Given the description of an element on the screen output the (x, y) to click on. 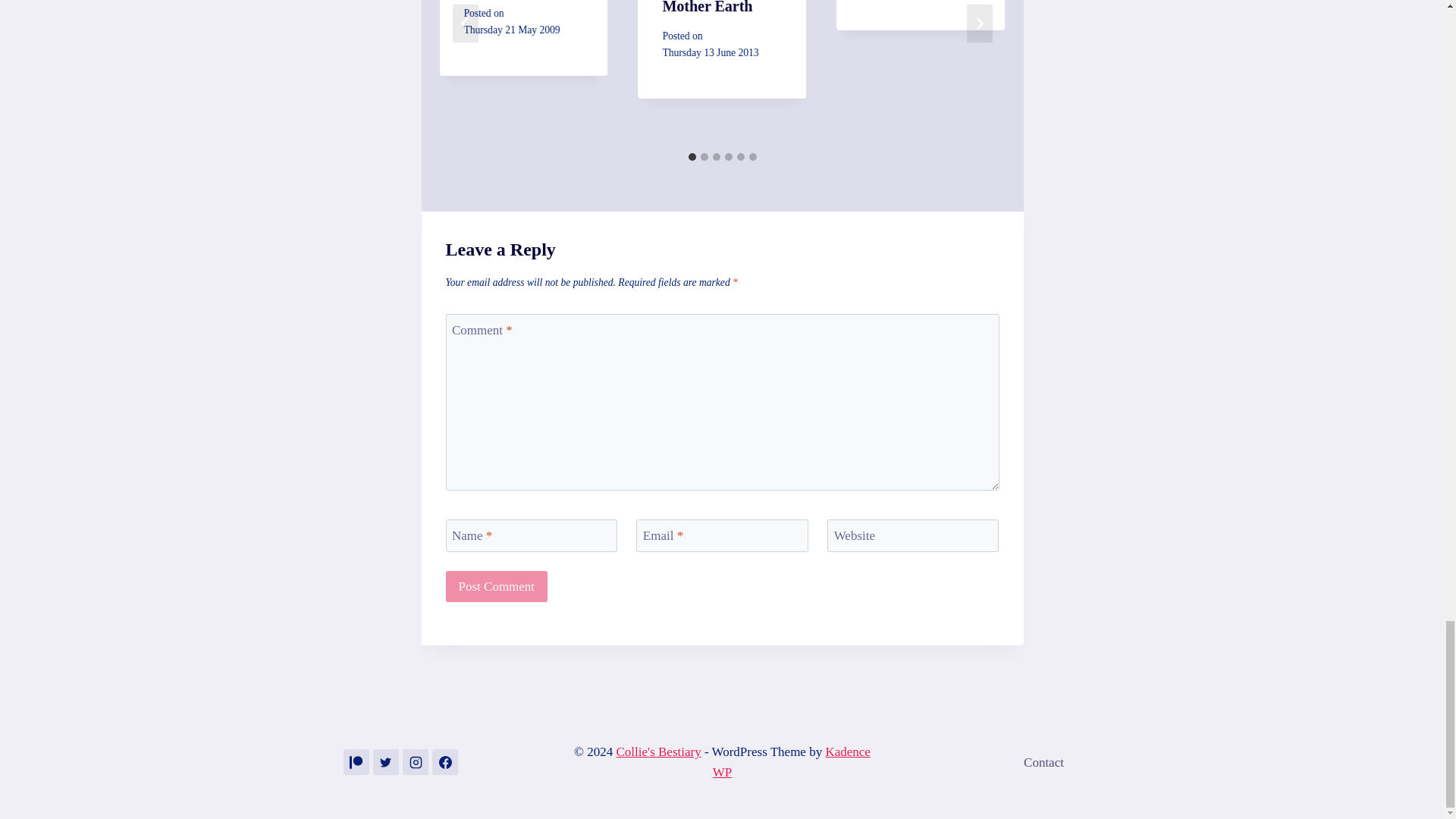
Post Comment (496, 585)
